Given the description of an element on the screen output the (x, y) to click on. 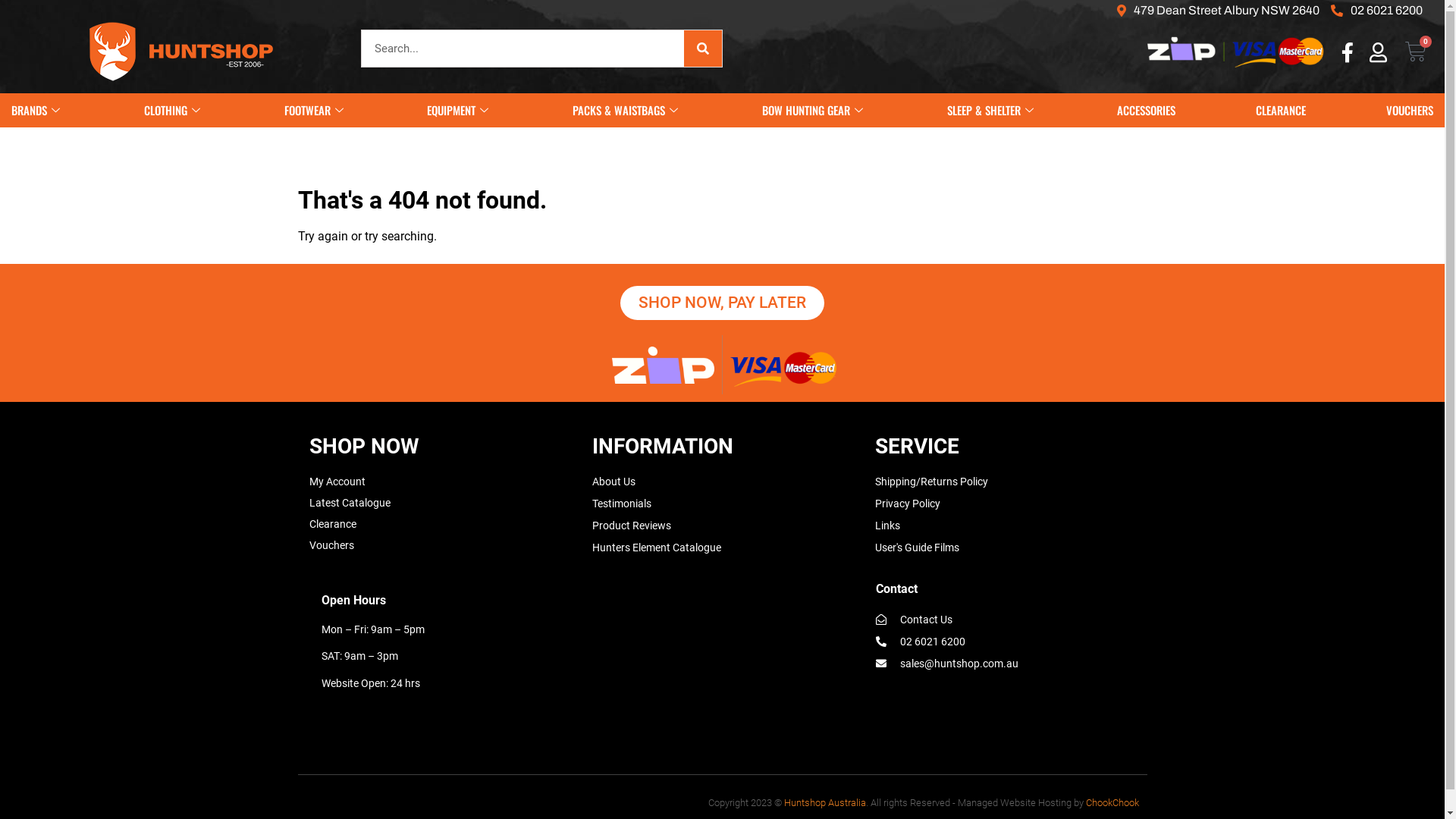
02 6021 6200 Element type: text (920, 641)
CLOTHING Element type: text (173, 110)
0 Element type: text (1415, 51)
Clearance Element type: text (332, 523)
My Account Element type: text (337, 481)
FOOTWEAR Element type: text (315, 110)
SHOP NOW, PAY LATER Element type: text (722, 302)
Shipping/Returns Policy Element type: text (931, 481)
Product Reviews Element type: text (631, 525)
BOW HUNTING GEAR Element type: text (814, 110)
PACKS & WAISTBAGS Element type: text (627, 110)
ChookChook Element type: text (1112, 802)
Testimonials Element type: text (621, 503)
VOUCHERS Element type: text (1409, 110)
ACCESSORIES Element type: text (1145, 110)
sales@huntshop.com.au Element type: text (946, 663)
User's Guide Films Element type: text (917, 547)
Privacy Policy Element type: text (907, 503)
SLEEP & SHELTER Element type: text (991, 110)
BRANDS Element type: text (37, 110)
02 6021 6200 Element type: text (1376, 10)
CLEARANCE Element type: text (1280, 110)
Vouchers Element type: text (331, 545)
Hunters Element Catalogue Element type: text (656, 547)
Contact Us Element type: text (913, 619)
About Us Element type: text (613, 481)
Huntshop Australia Element type: text (825, 802)
Latest Catalogue Element type: text (349, 502)
EQUIPMENT Element type: text (459, 110)
479 Dean Street Albury NSW 2640 Element type: text (1218, 10)
Links Element type: text (887, 525)
